Given the description of an element on the screen output the (x, y) to click on. 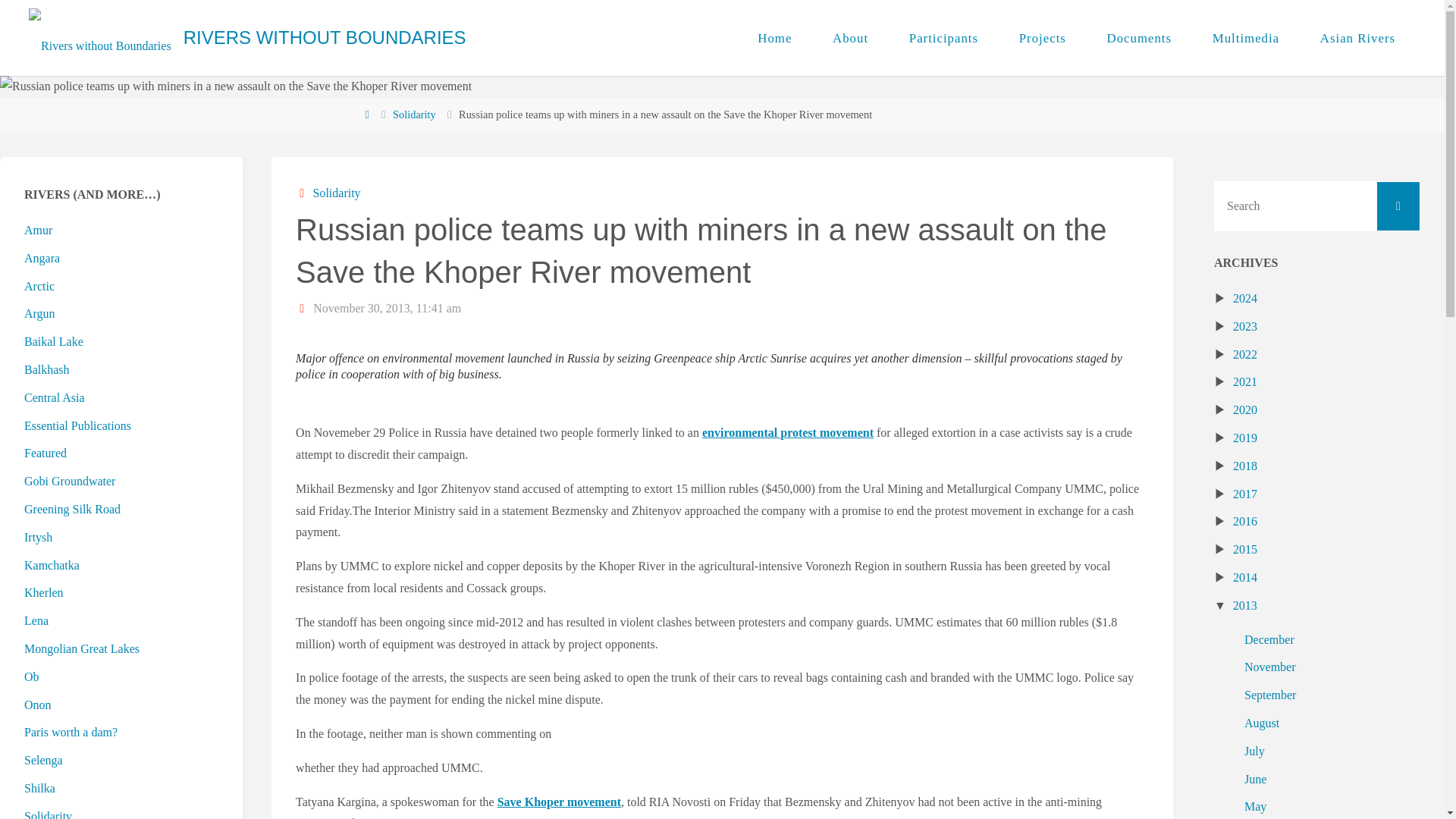
Home (774, 38)
Rivers without Boundaries (100, 37)
Categories (302, 192)
Saving Transnational Rivers (324, 37)
Participants (943, 38)
Date (302, 308)
RIVERS WITHOUT BOUNDARIES (324, 37)
About (850, 38)
Projects (1042, 38)
